Given the description of an element on the screen output the (x, y) to click on. 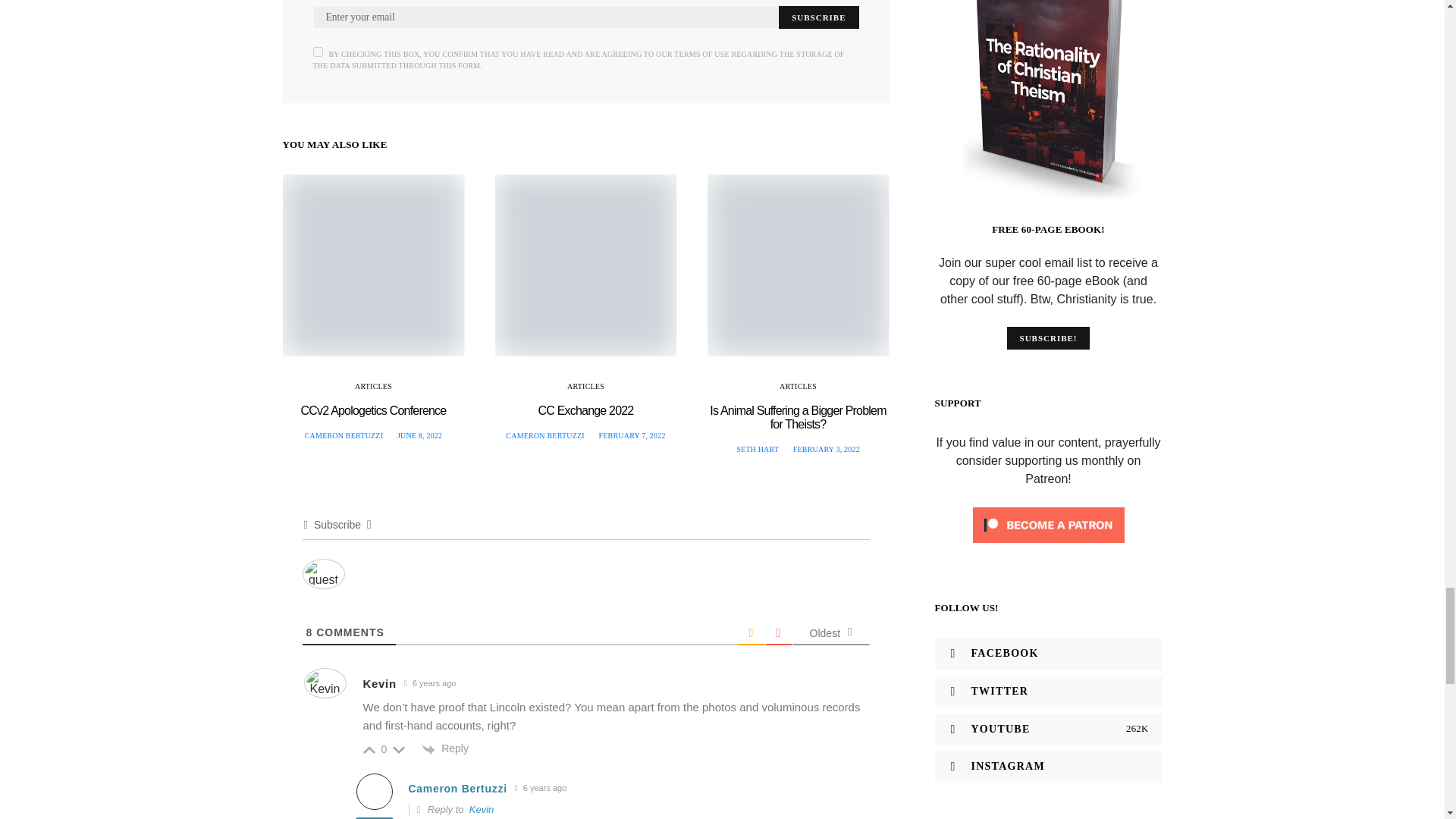
View all posts by Cameron Bertuzzi (544, 435)
View all posts by Cameron Bertuzzi (343, 435)
on (317, 51)
View all posts by Seth Hart (757, 449)
